Given the description of an element on the screen output the (x, y) to click on. 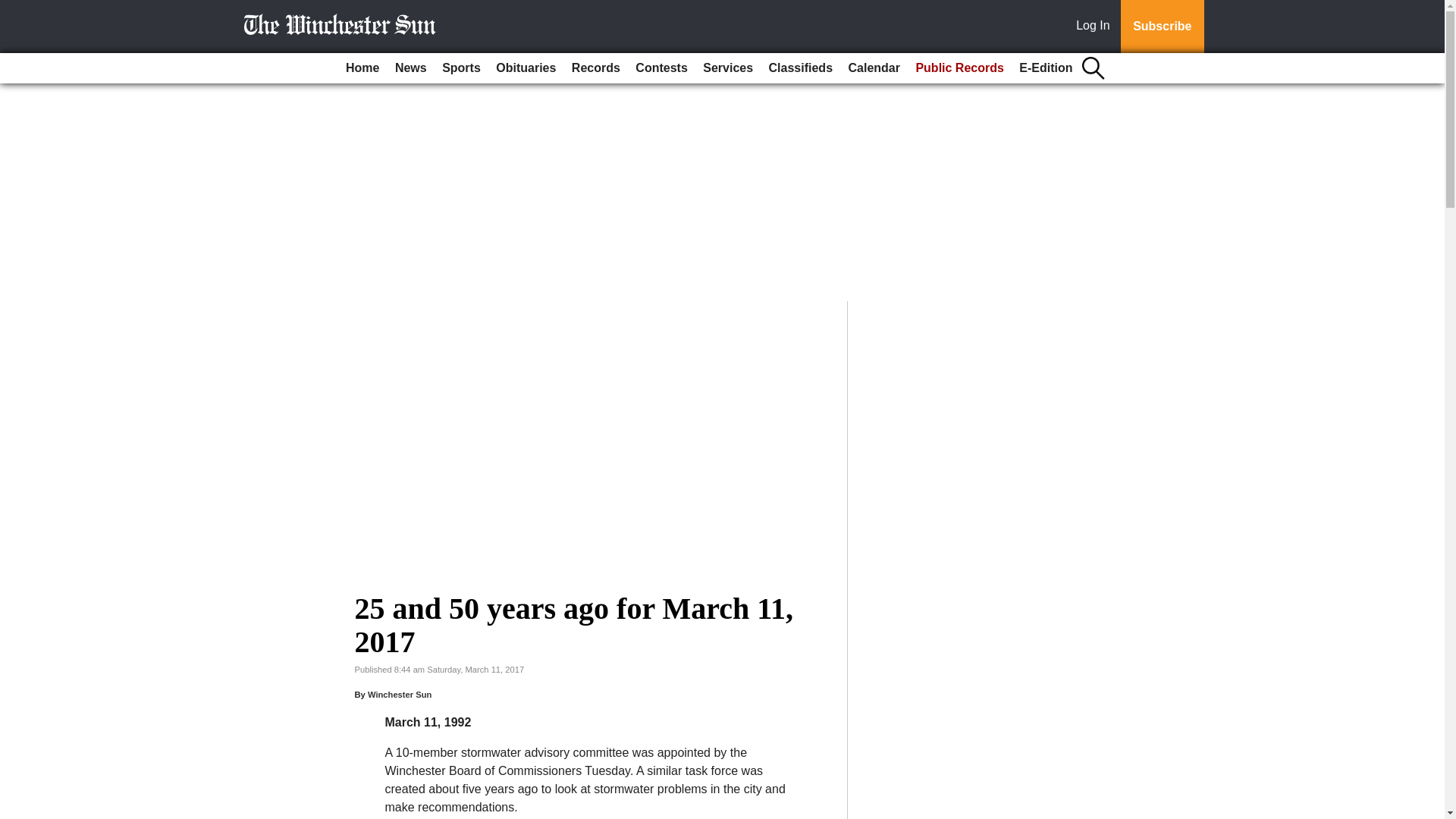
Records (596, 68)
Classifieds (800, 68)
Home (362, 68)
Subscribe (1162, 26)
News (410, 68)
Calendar (873, 68)
Go (13, 9)
Obituaries (525, 68)
E-Edition (1045, 68)
Log In (1095, 26)
Winchester Sun (399, 694)
Public Records (958, 68)
Services (727, 68)
Contests (660, 68)
Sports (460, 68)
